Given the description of an element on the screen output the (x, y) to click on. 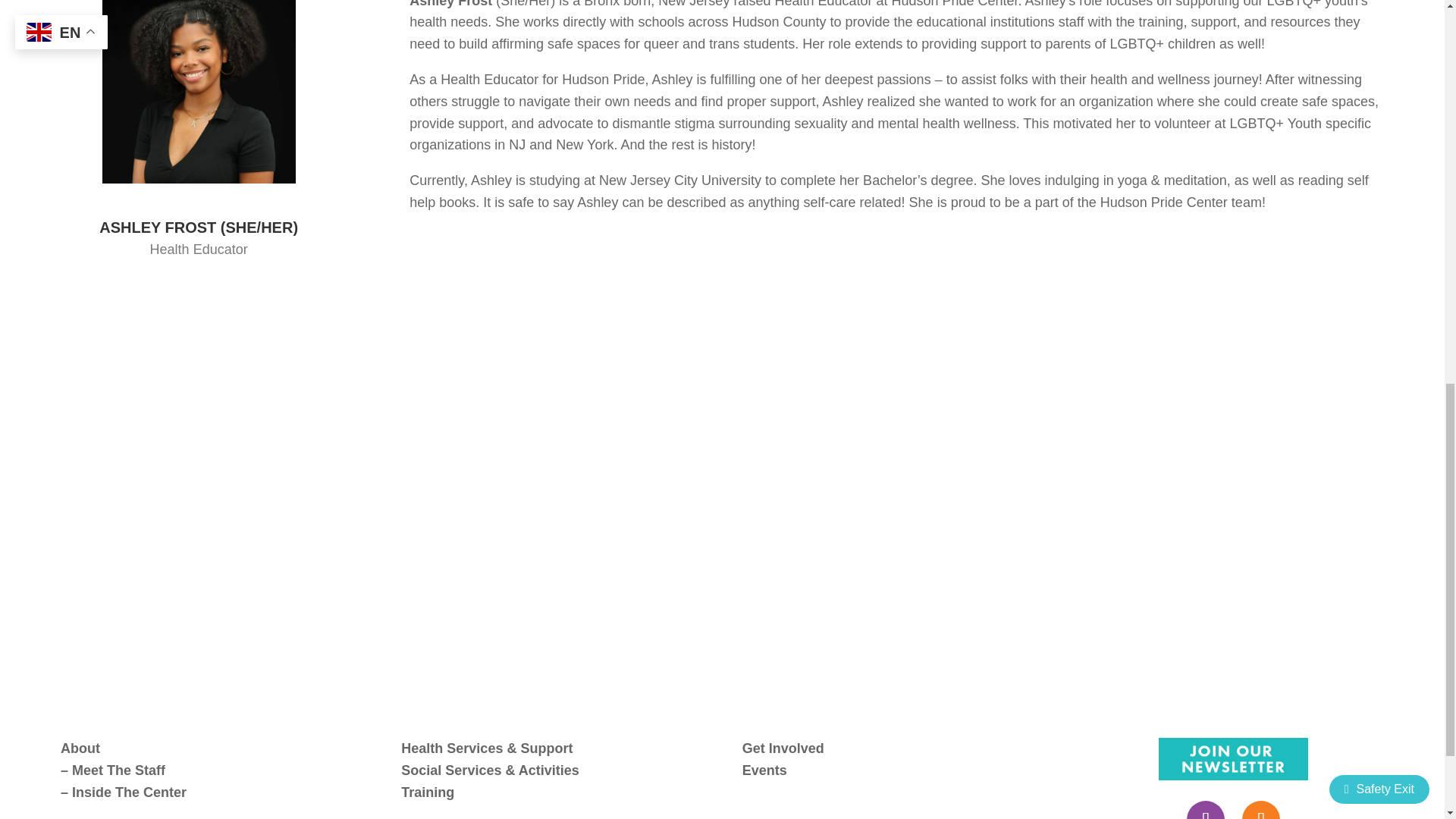
Follow on Instagram (1260, 809)
Follow on Facebook (1205, 809)
newsletter (1232, 758)
Ashley (198, 91)
